Given the description of an element on the screen output the (x, y) to click on. 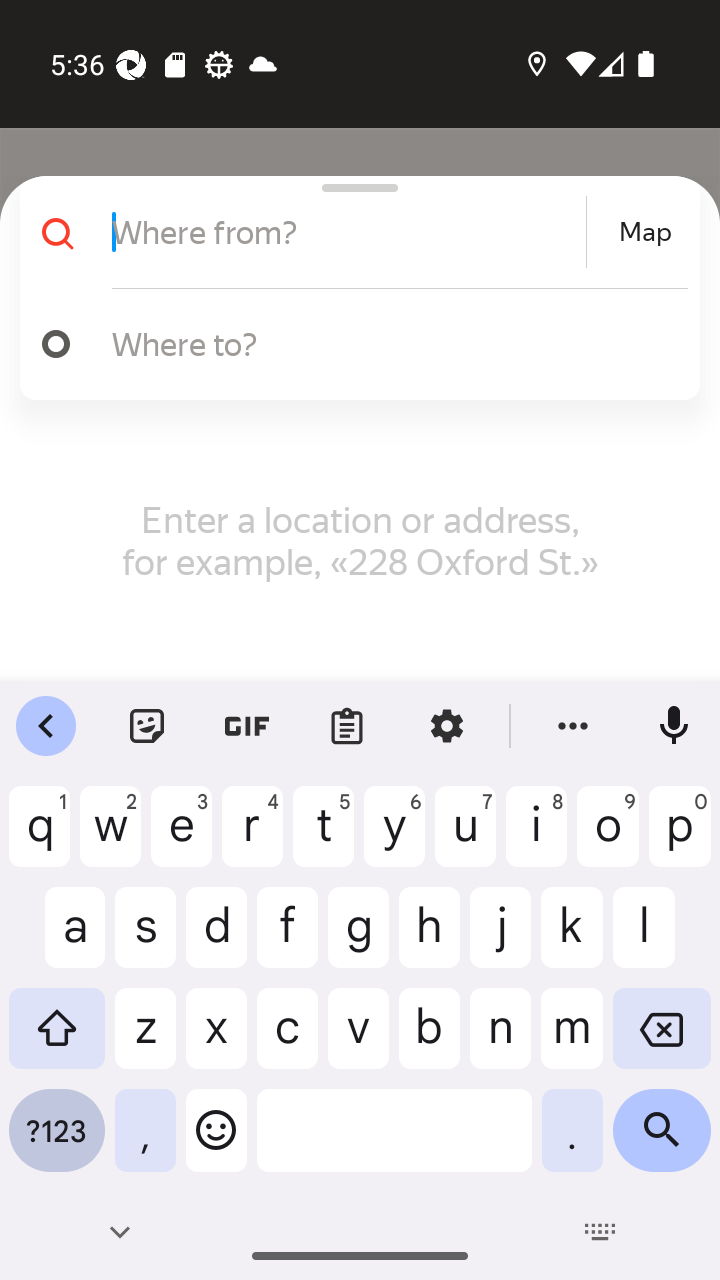
Where from? Map Map (352, 232)
Map (645, 232)
Where from? (346, 232)
Where to? (352, 343)
Where to? (390, 343)
